Given the description of an element on the screen output the (x, y) to click on. 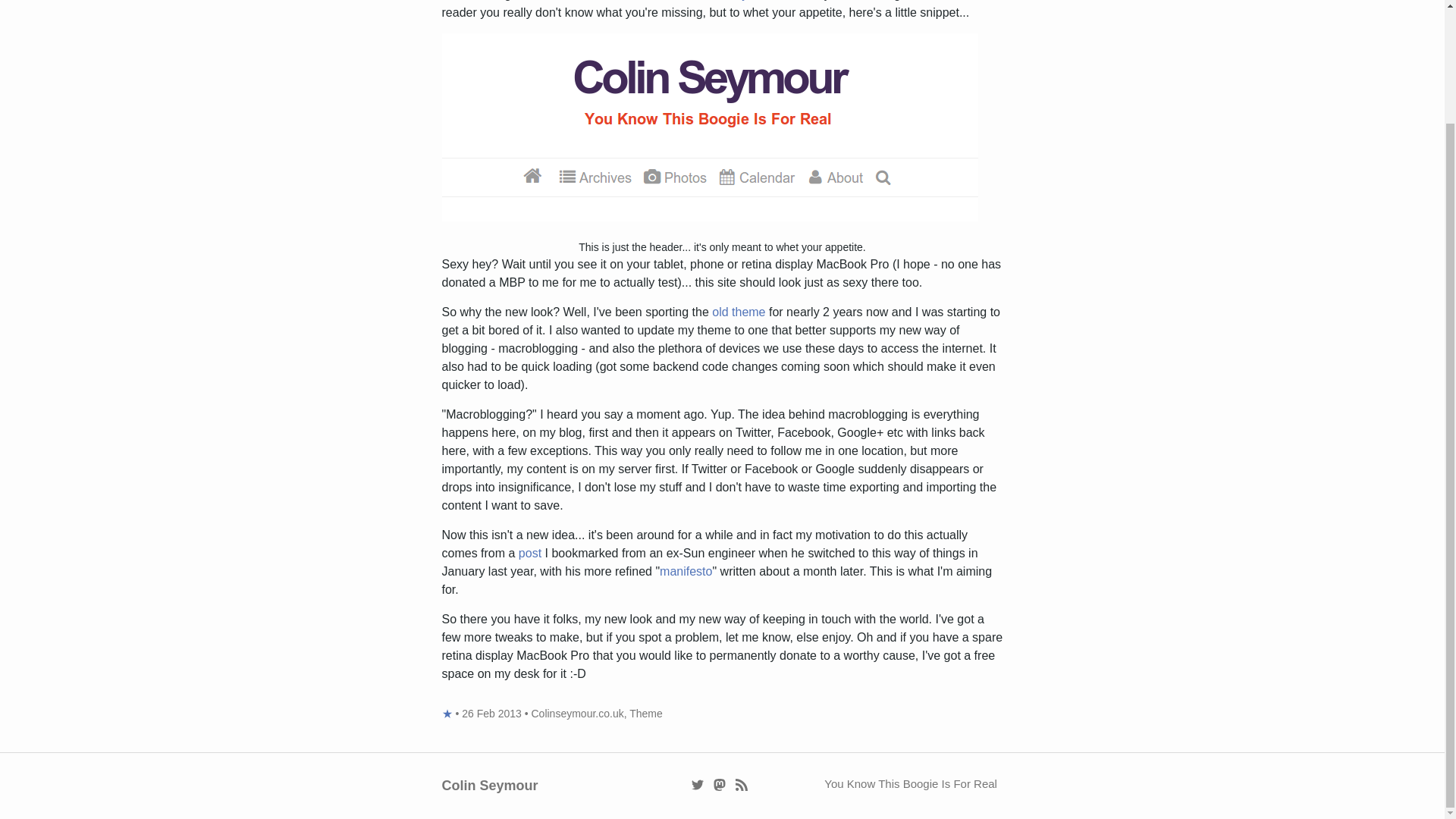
manifesto (685, 571)
Atom Feed (741, 783)
post (529, 553)
old theme (738, 311)
